Given the description of an element on the screen output the (x, y) to click on. 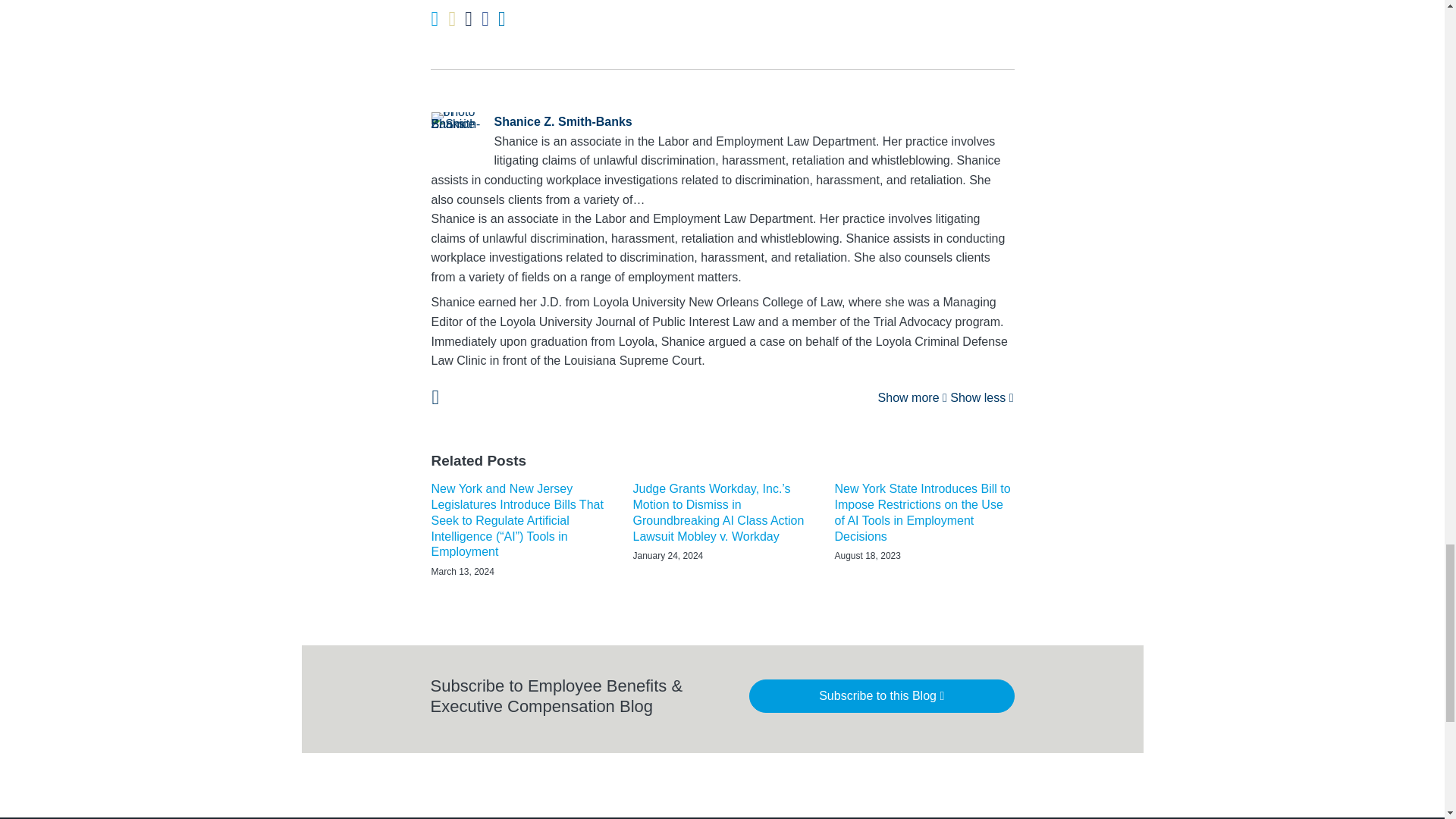
Show more (912, 397)
Show less (981, 397)
Shanice Z. Smith-Banks (721, 121)
Subscribe to this Blog (881, 695)
